Given the description of an element on the screen output the (x, y) to click on. 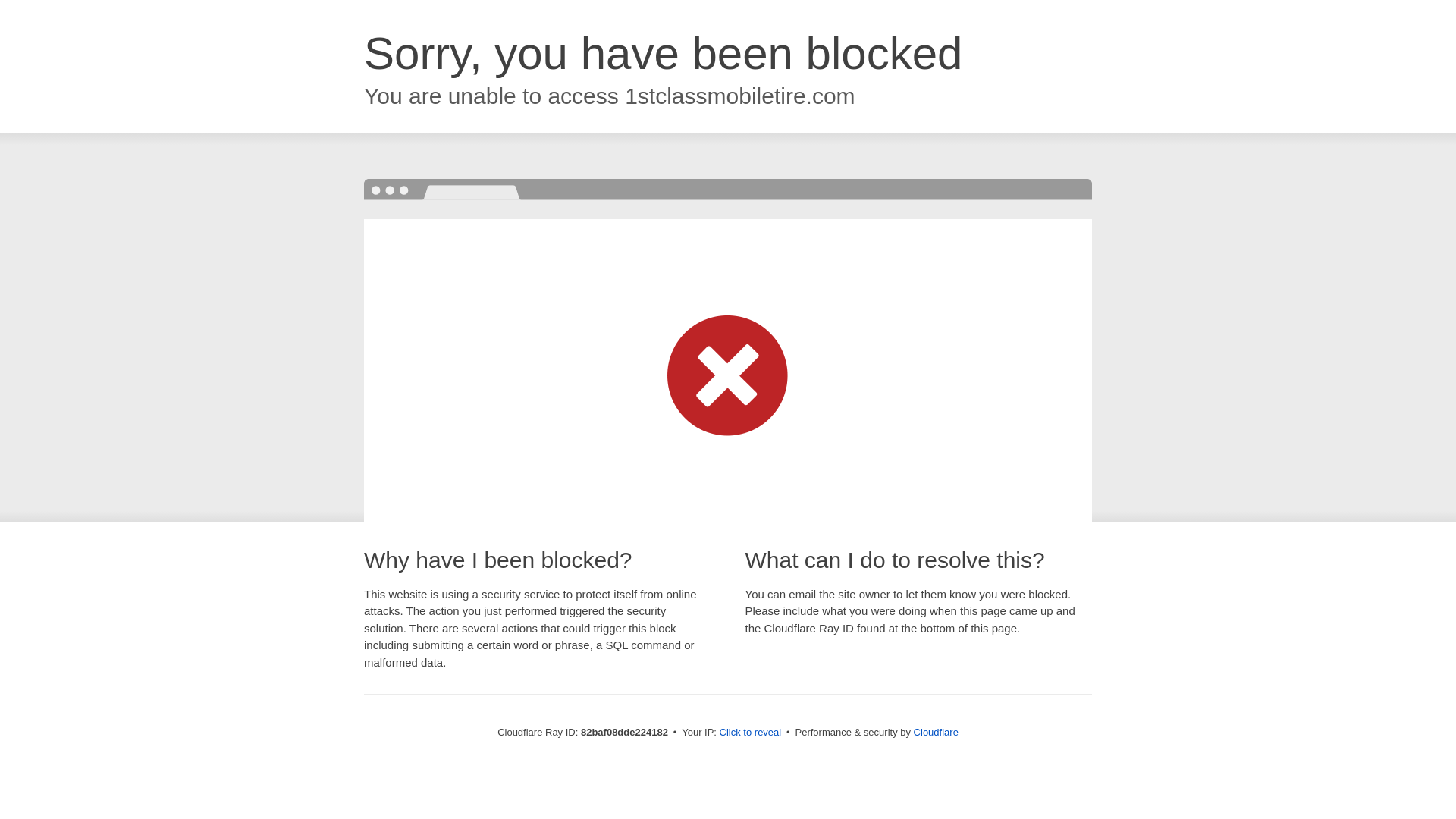
Click to reveal Element type: text (750, 732)
Cloudflare Element type: text (935, 731)
